Given the description of an element on the screen output the (x, y) to click on. 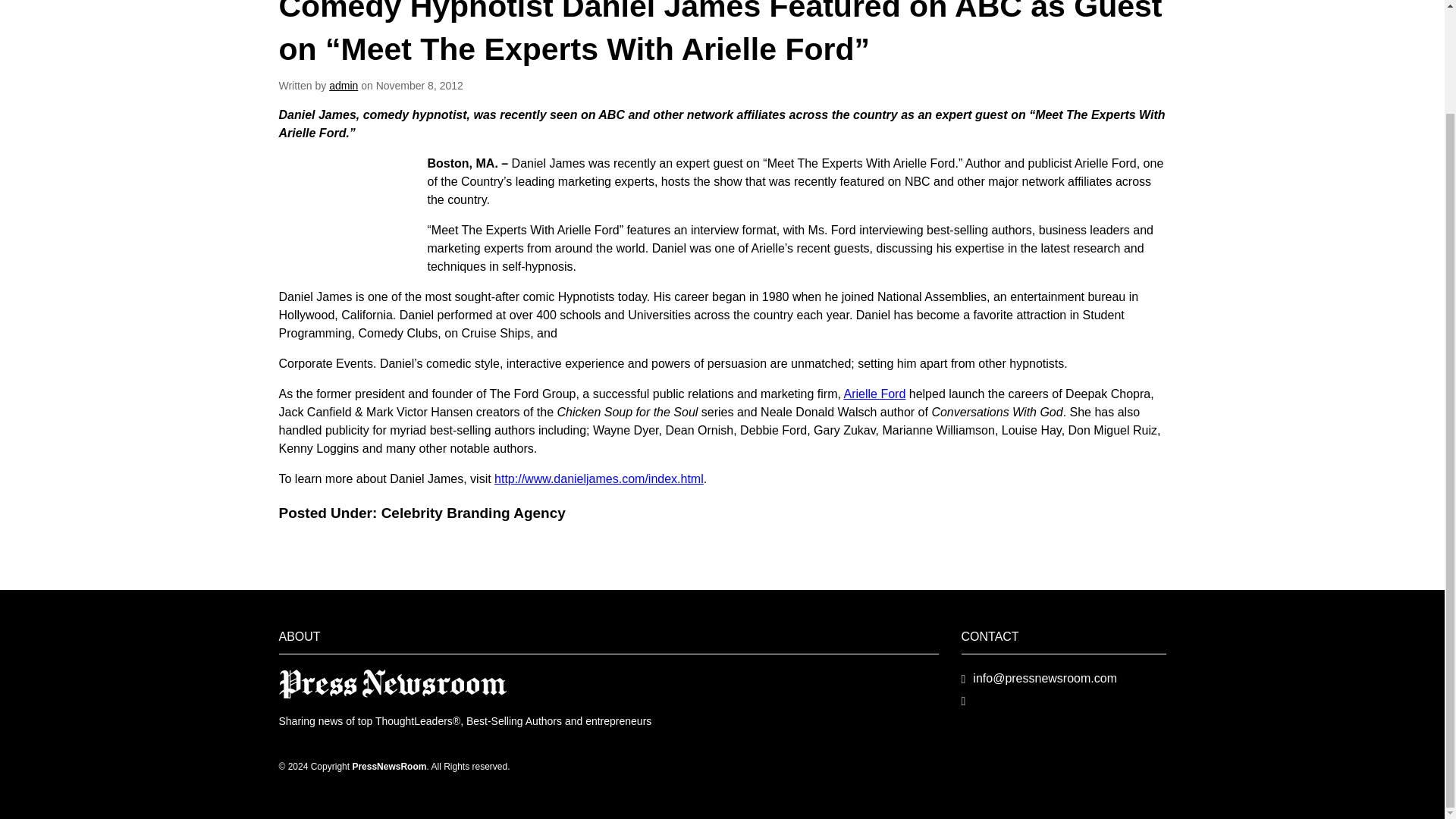
admin (343, 85)
Posts by admin (343, 85)
PressNewsRoom (392, 683)
Arielle Ford (874, 393)
Celebrity Branding Agency (473, 512)
